Given the description of an element on the screen output the (x, y) to click on. 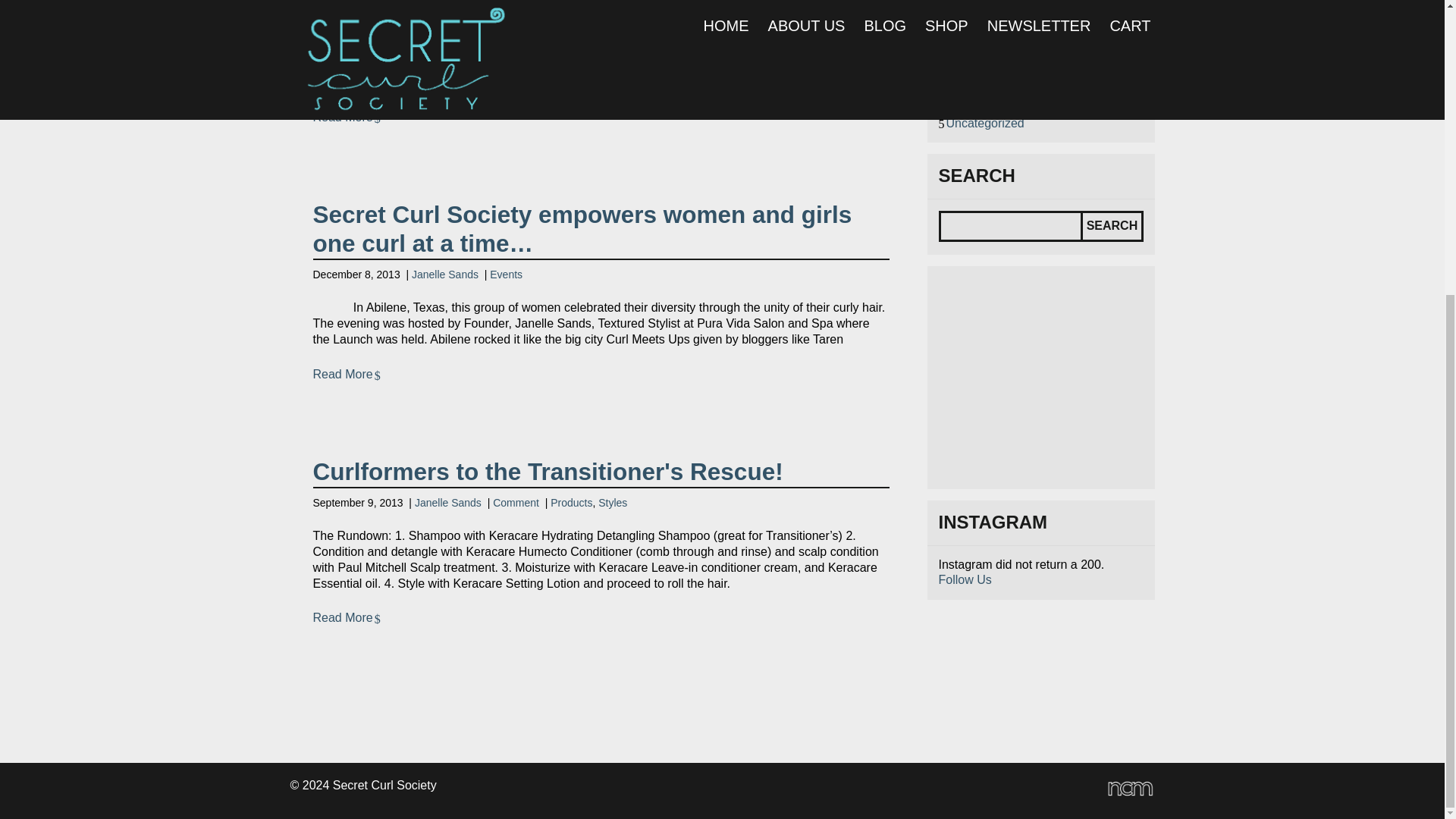
Janelle Sands (447, 502)
Events (965, 16)
Janelle Sands (445, 274)
Permalink to Curlformers to the Transitioner's Rescue! (346, 617)
Products (562, 17)
Events (505, 274)
Posts by Janelle Sands (445, 274)
Cuts (958, 4)
Comment (507, 17)
Styles (612, 502)
Styles (603, 17)
Curlformers to the Transitioner's Rescue! (548, 471)
Posts by Janelle Sands (439, 17)
Posts by Janelle Sands (447, 502)
Read More (346, 117)
